Given the description of an element on the screen output the (x, y) to click on. 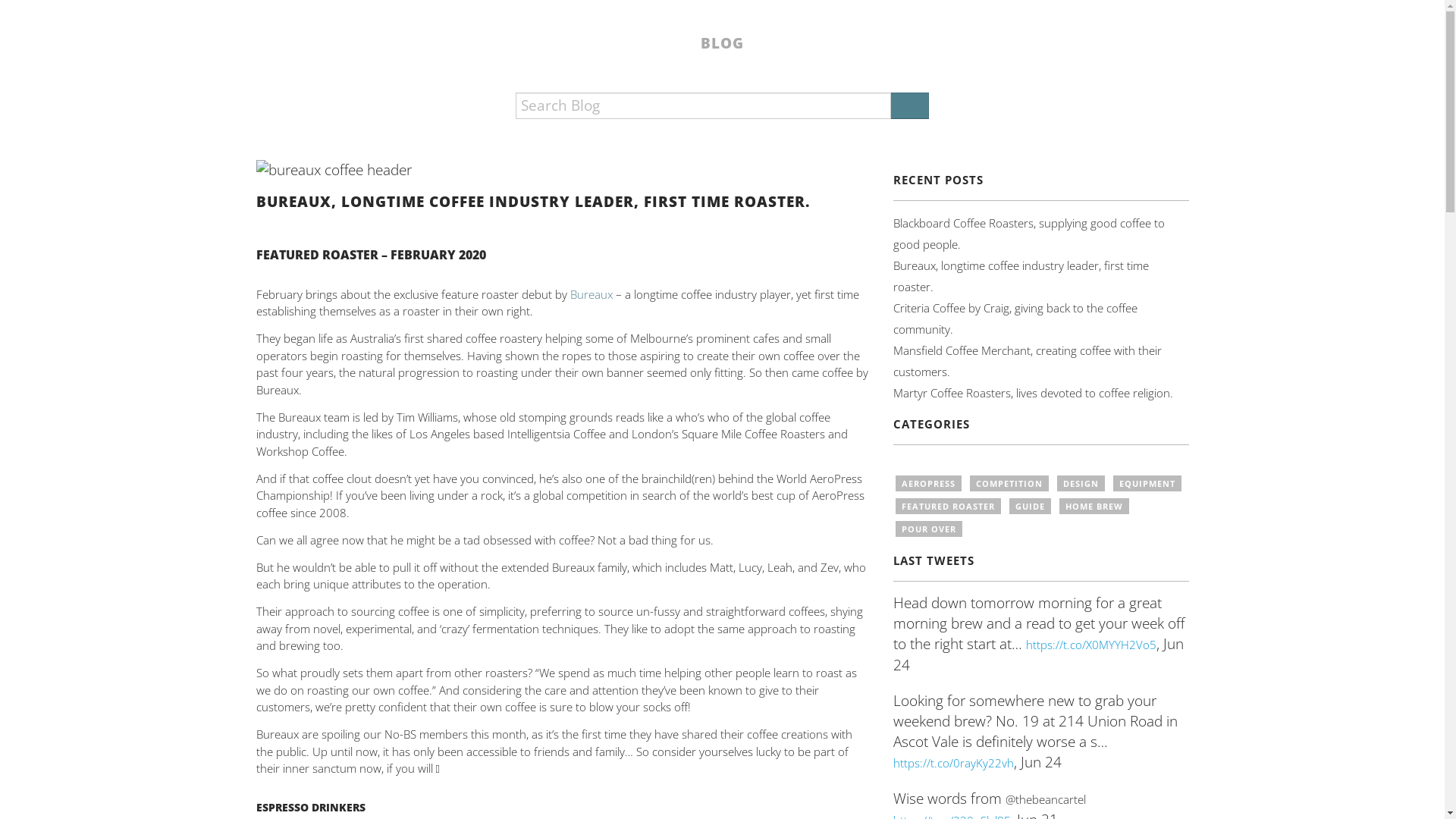
https://t.co/0rayKy22vh Element type: text (953, 762)
POUR OVER Element type: text (927, 528)
Martyr Coffee Roasters, lives devoted to coffee religion. Element type: text (1033, 392)
DESIGN Element type: text (1080, 483)
HOME BREW Element type: text (1093, 506)
Bureaux Element type: text (591, 293)
AEROPRESS Element type: text (927, 483)
FEATURED ROASTER Element type: text (947, 506)
GUIDE Element type: text (1029, 506)
Search Element type: text (909, 105)
@thebeancartel Element type: text (1045, 798)
COMPETITION Element type: text (1008, 483)
https://t.co/X0MYYH2Vo5 Element type: text (1090, 644)
EQUIPMENT Element type: text (1147, 483)
